Given the description of an element on the screen output the (x, y) to click on. 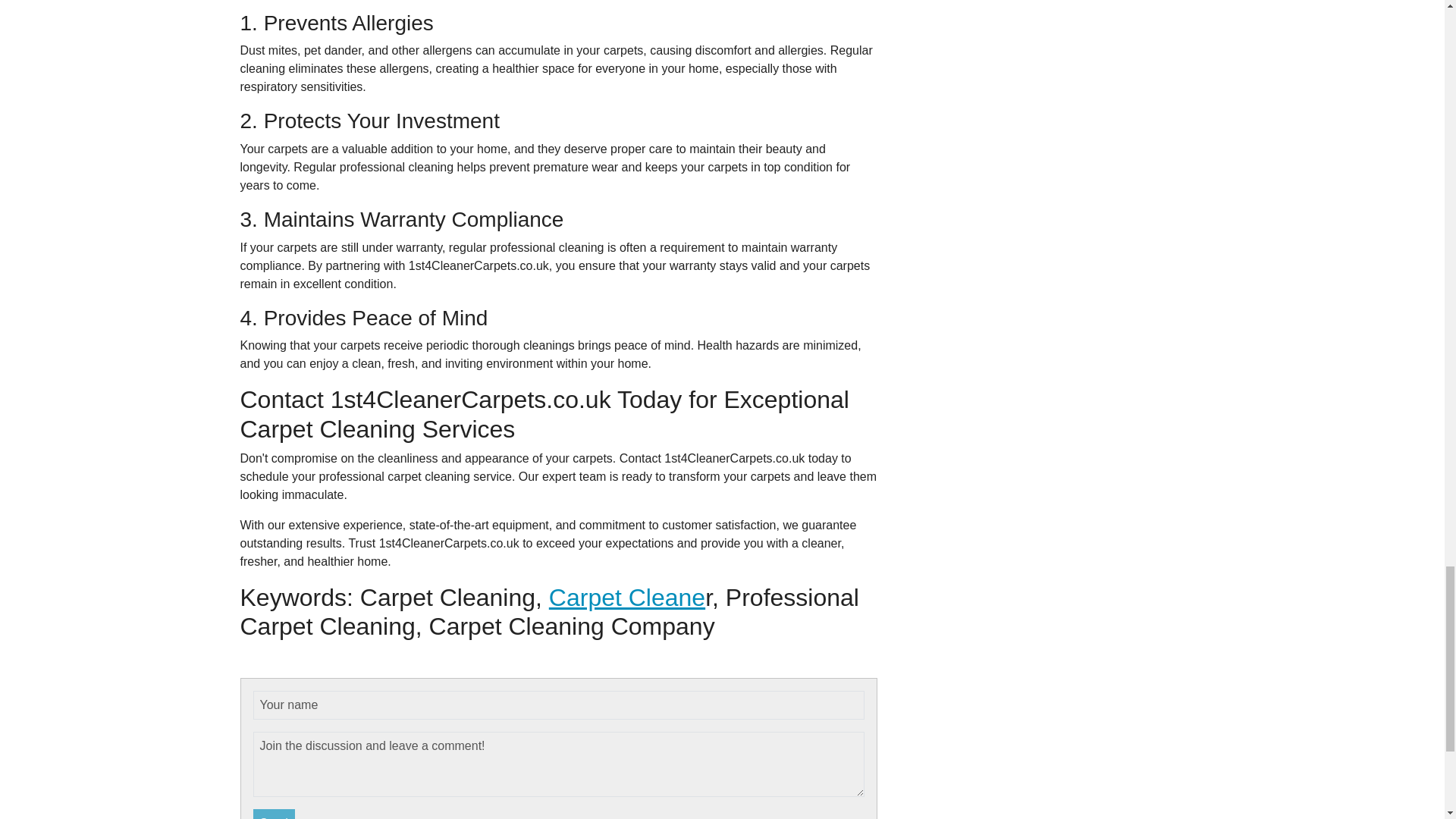
Carpet Cleane (626, 596)
Send (274, 814)
Send (274, 814)
